Given the description of an element on the screen output the (x, y) to click on. 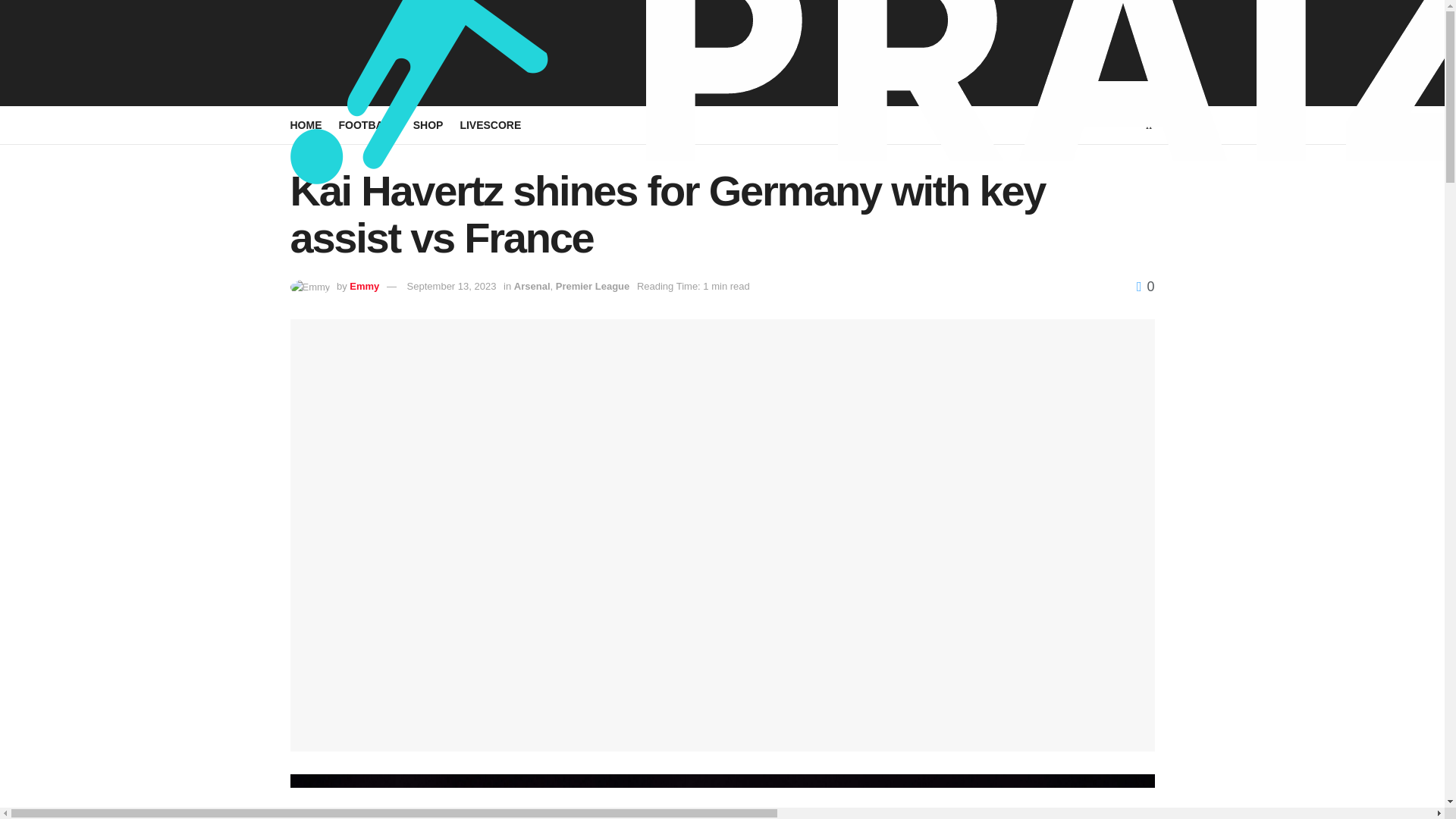
SHOP (428, 124)
LIVESCORE (490, 124)
FOOTBALL (366, 124)
HOME (305, 124)
